Given the description of an element on the screen output the (x, y) to click on. 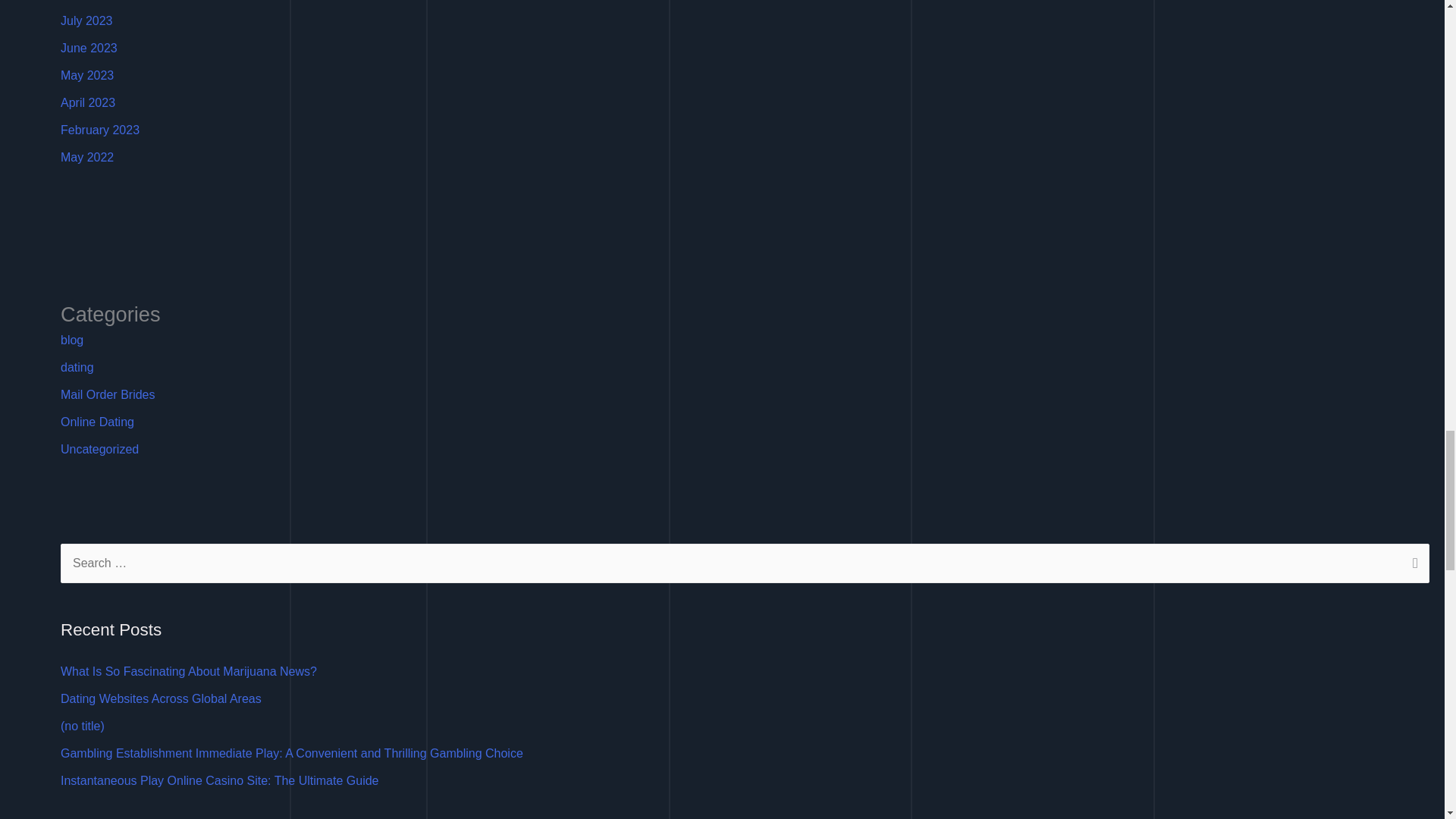
June 2023 (89, 47)
July 2023 (87, 20)
May 2023 (87, 74)
April 2023 (88, 102)
February 2023 (100, 129)
